Given the description of an element on the screen output the (x, y) to click on. 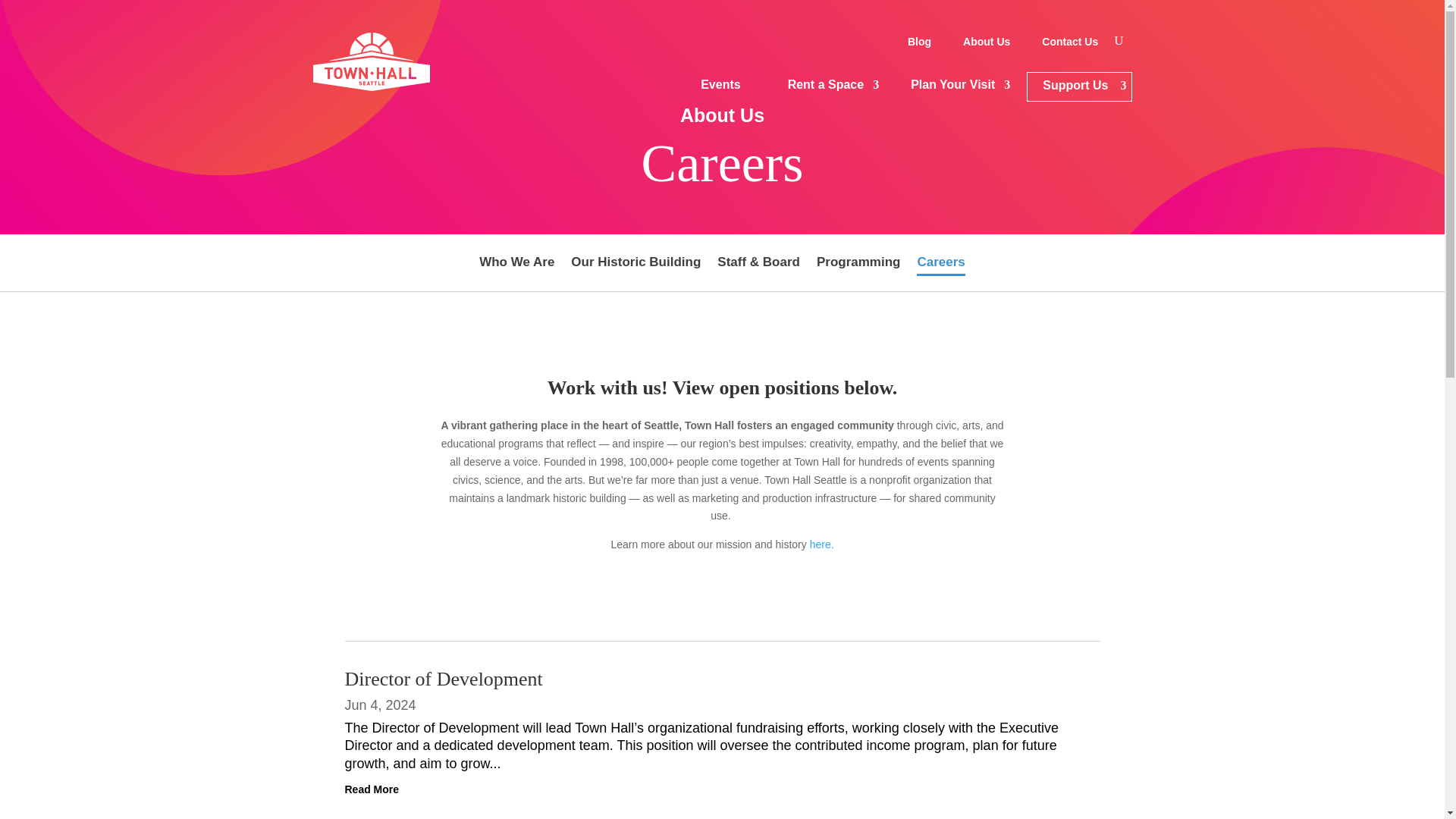
Rent a Space (826, 86)
Blog (919, 44)
Plan Your Visit (952, 86)
Blog (919, 44)
About Us (986, 44)
Contact Us (1069, 44)
Town Hall Logo (371, 61)
Events (720, 86)
About Us (986, 44)
Plan Your Visit (952, 86)
Support Us (1078, 86)
Support Us (1078, 86)
Rent a Space (826, 86)
